Given the description of an element on the screen output the (x, y) to click on. 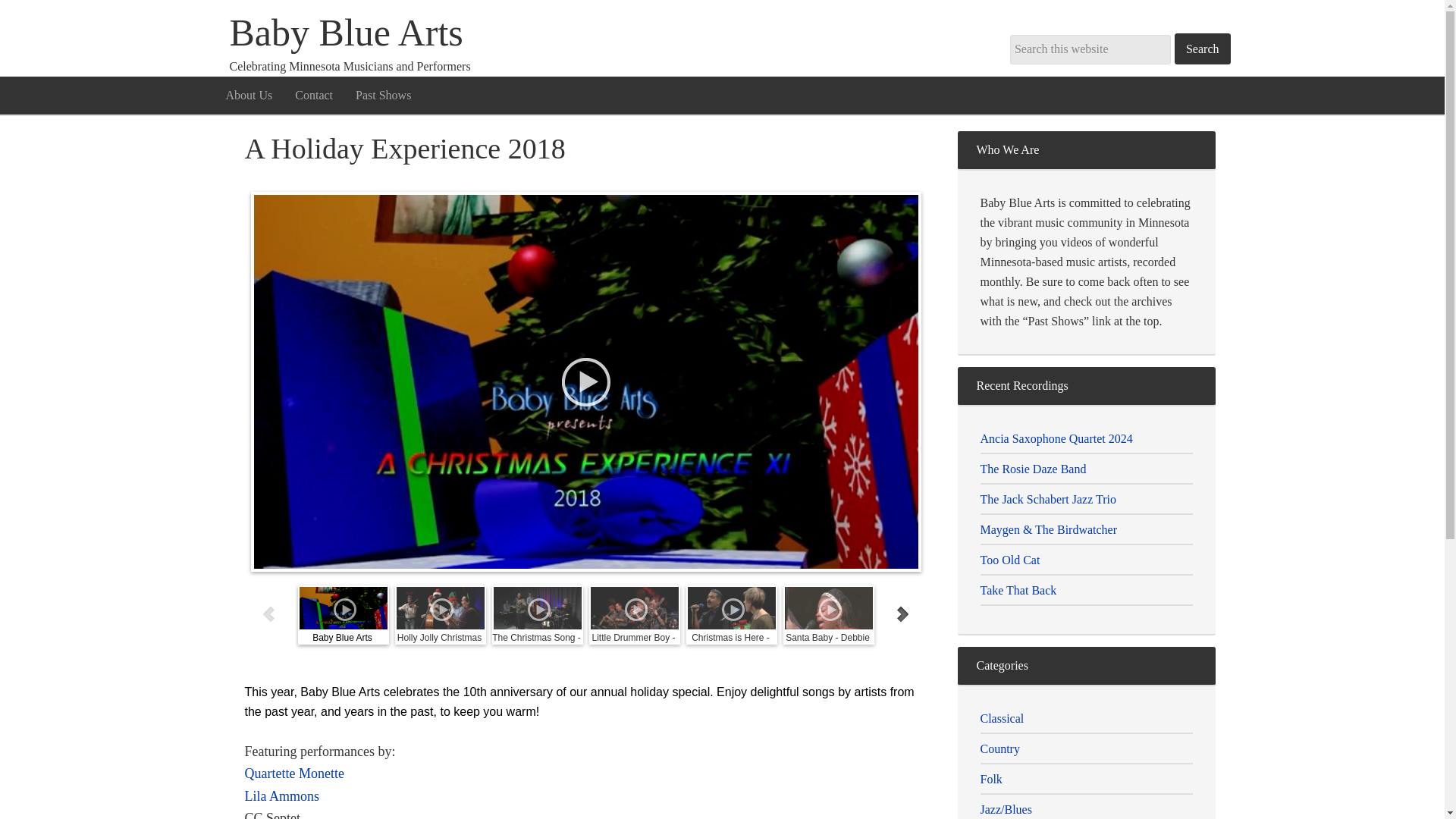
Folk (990, 778)
The Jack Schabert Jazz Trio (1047, 499)
Search (1202, 48)
Lila Ammons (281, 795)
Past Shows (382, 94)
Country (999, 748)
Search (1202, 48)
The Rosie Daze Band (1032, 468)
Contact (313, 94)
Baby Blue Arts (345, 32)
Classical (1001, 717)
Ancia Saxophone Quartet 2024 (1055, 438)
About Us (248, 94)
Quartette Monette (293, 773)
Search (1202, 48)
